Given the description of an element on the screen output the (x, y) to click on. 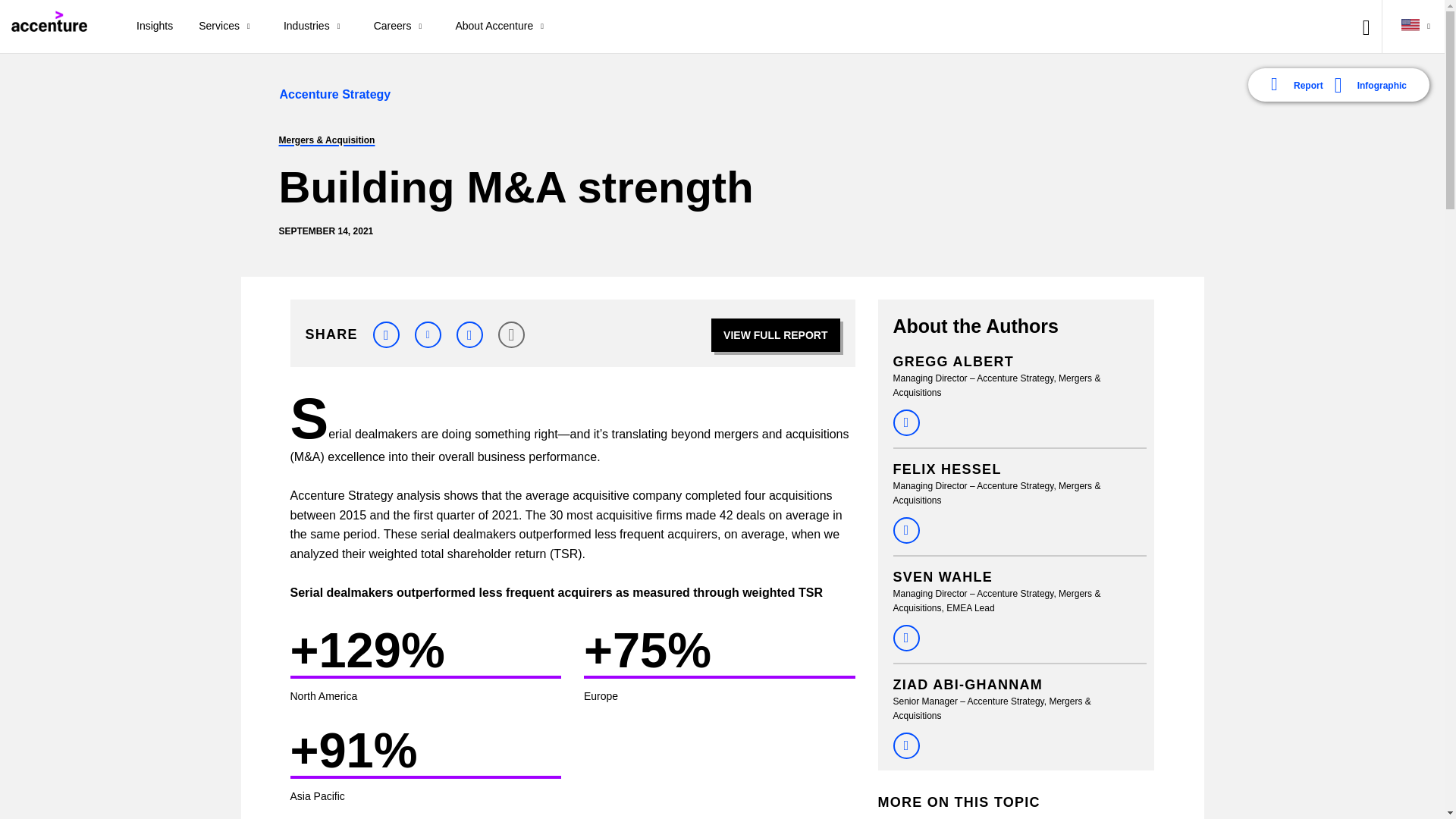
Insights (154, 26)
Industries (315, 26)
Services (228, 26)
